Given the description of an element on the screen output the (x, y) to click on. 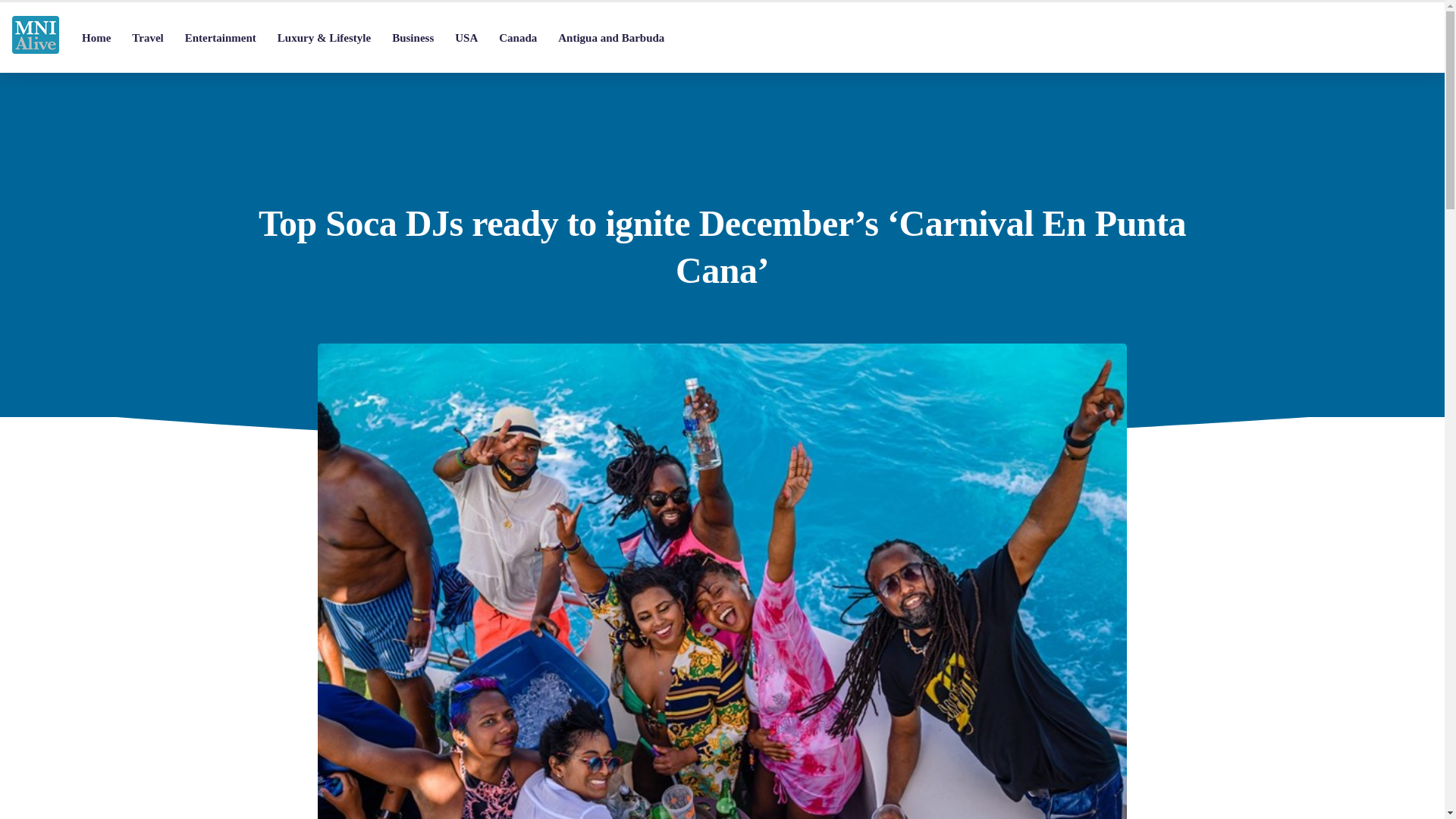
Antigua and Barbuda (611, 37)
Home (95, 37)
USA (465, 37)
Travel (146, 37)
Entertainment (220, 37)
Business (412, 37)
Canada (517, 37)
